Given the description of an element on the screen output the (x, y) to click on. 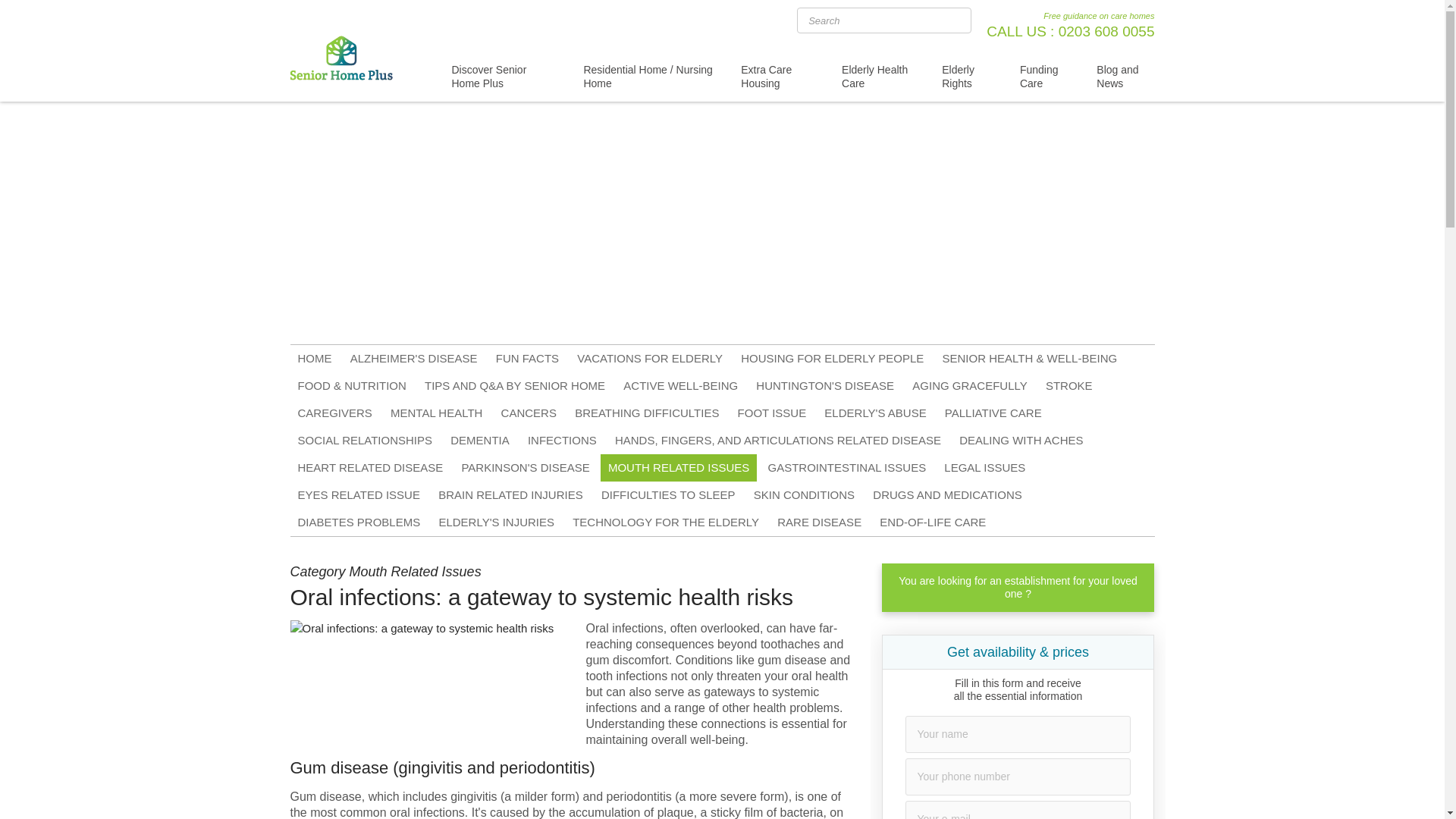
Extra Care Housing (777, 76)
0203 608 0055 (1106, 31)
Discover Senior Home Plus (504, 76)
Elderly Rights (967, 76)
Elderly Health Care (878, 76)
